Given the description of an element on the screen output the (x, y) to click on. 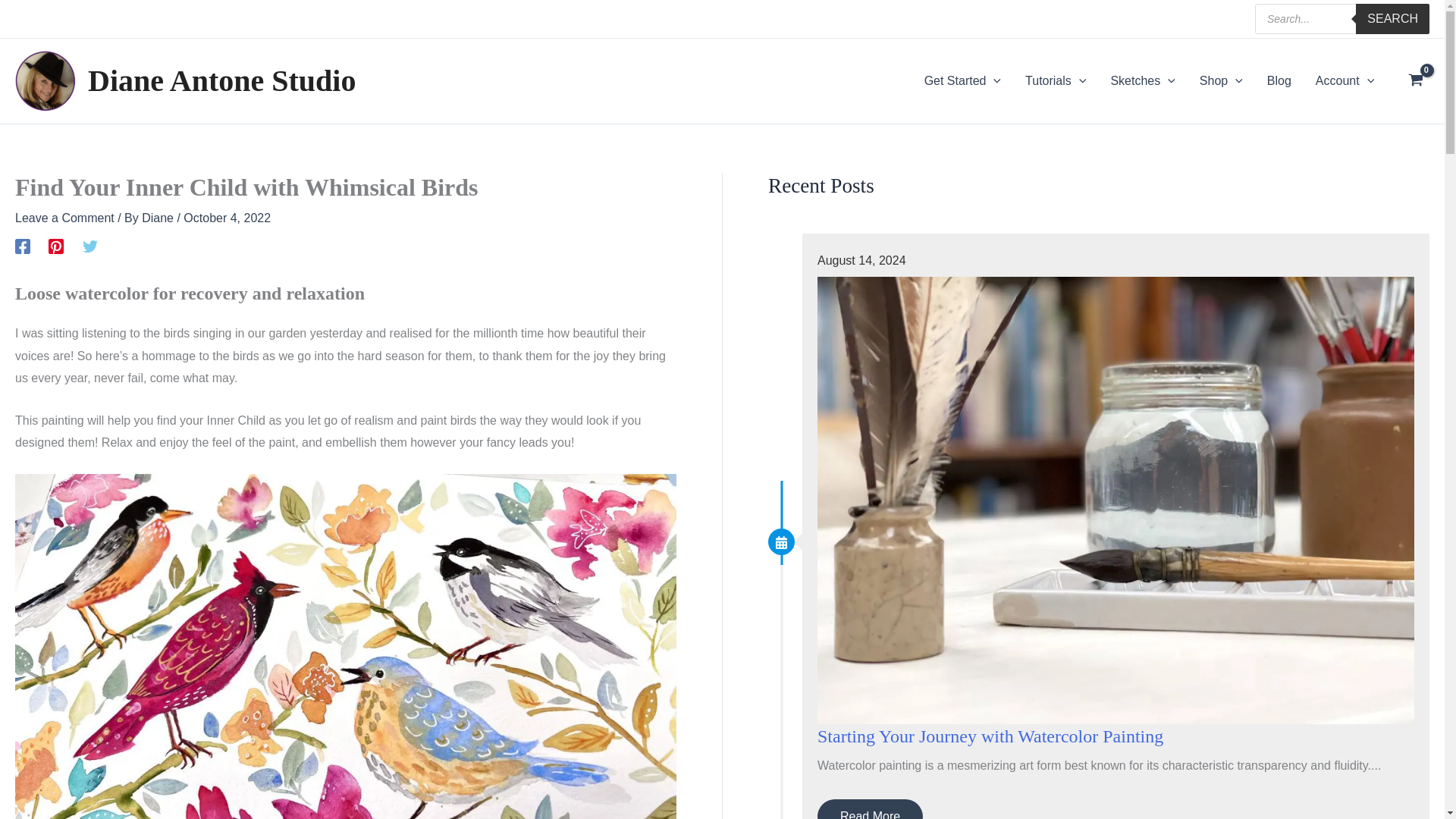
View all posts by Diane (158, 217)
Tutorials (1055, 80)
SEARCH (1392, 19)
Get Started (962, 80)
Diane Antone Studio (221, 80)
